Given the description of an element on the screen output the (x, y) to click on. 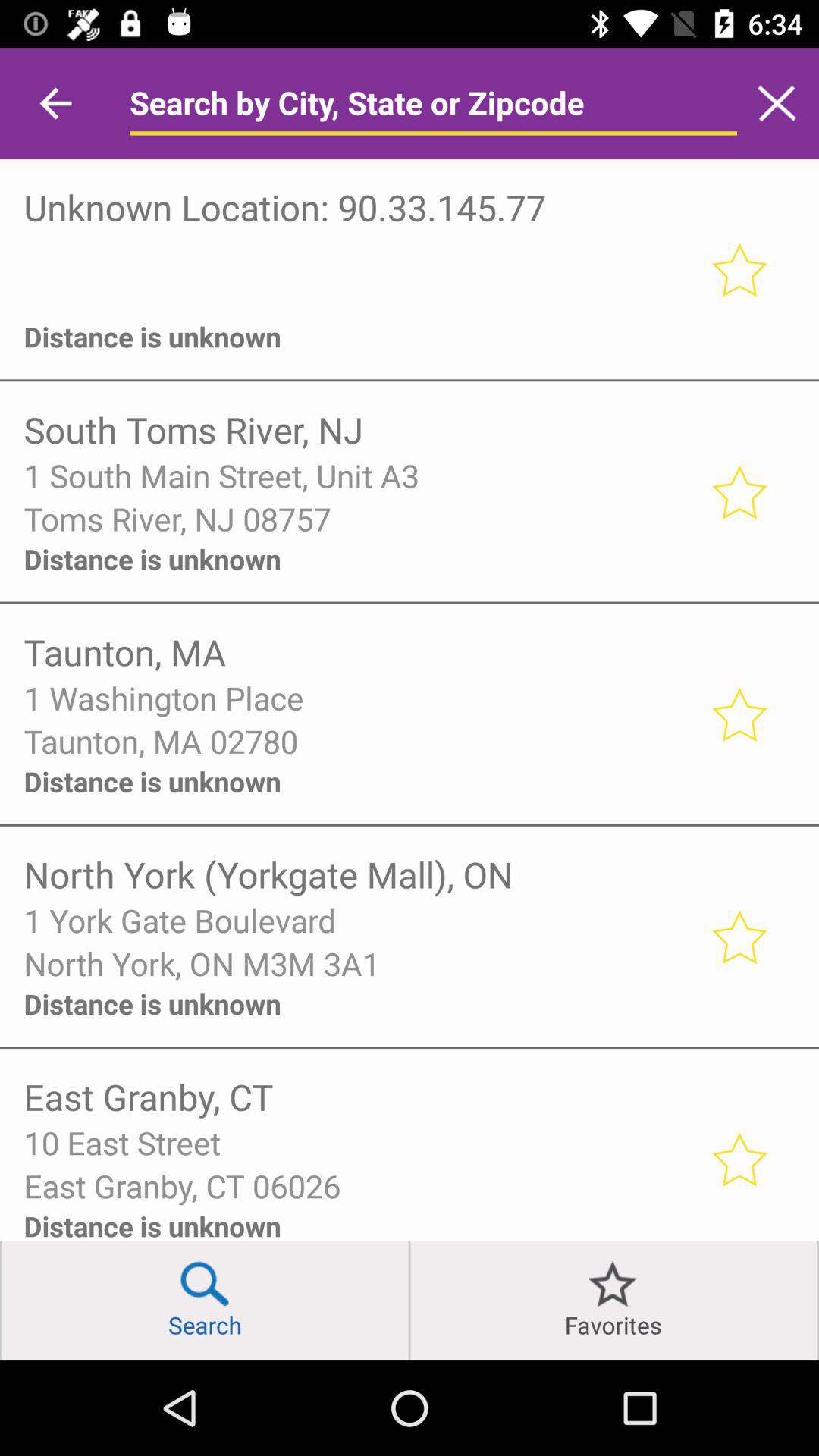
choose icon above unknown location 90 item (55, 103)
